Given the description of an element on the screen output the (x, y) to click on. 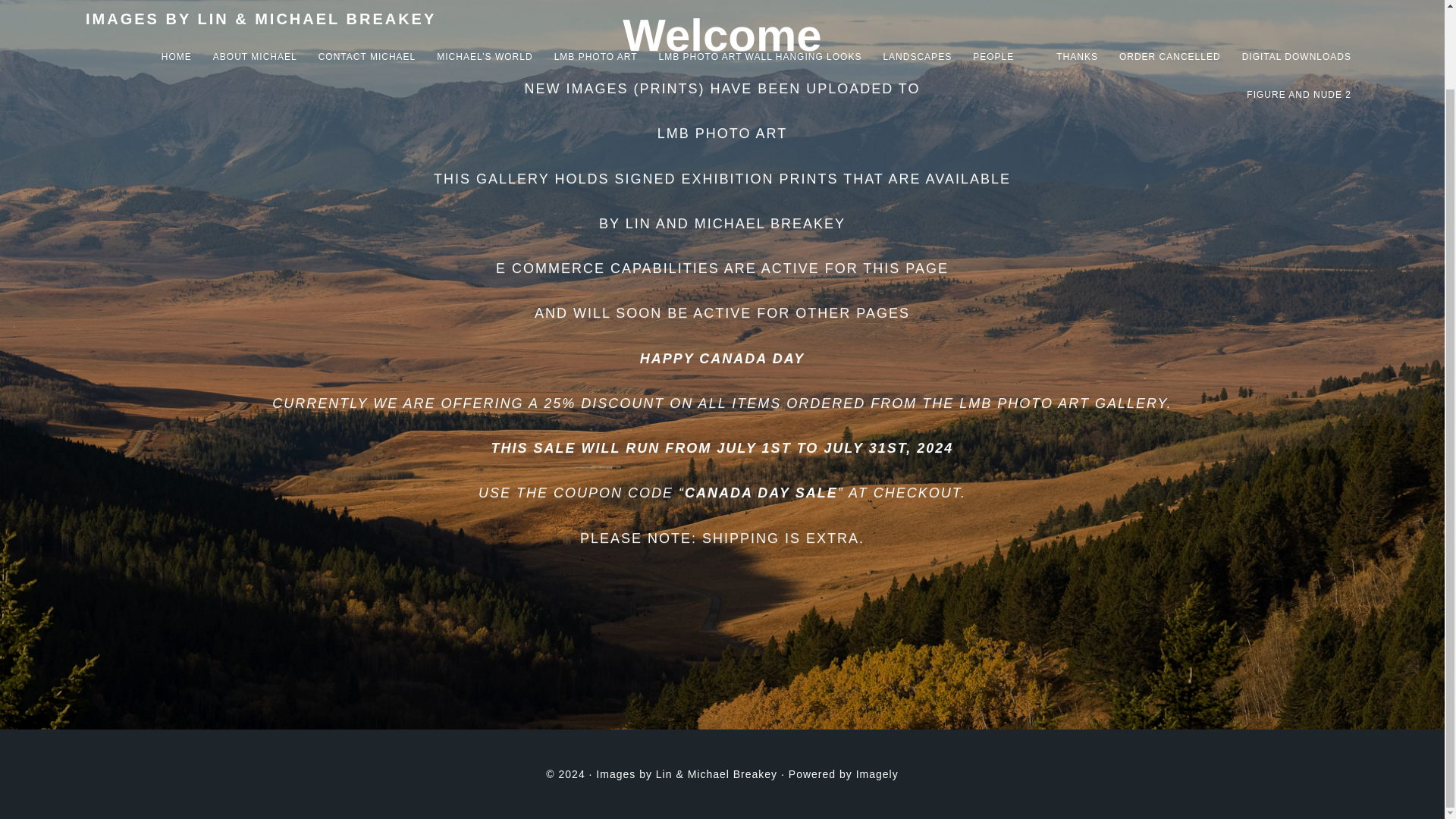
FIGURE AND NUDE 2 (1298, 12)
LMB PHOTO ART GALLERY (1062, 403)
Imagely (877, 774)
